Given the description of an element on the screen output the (x, y) to click on. 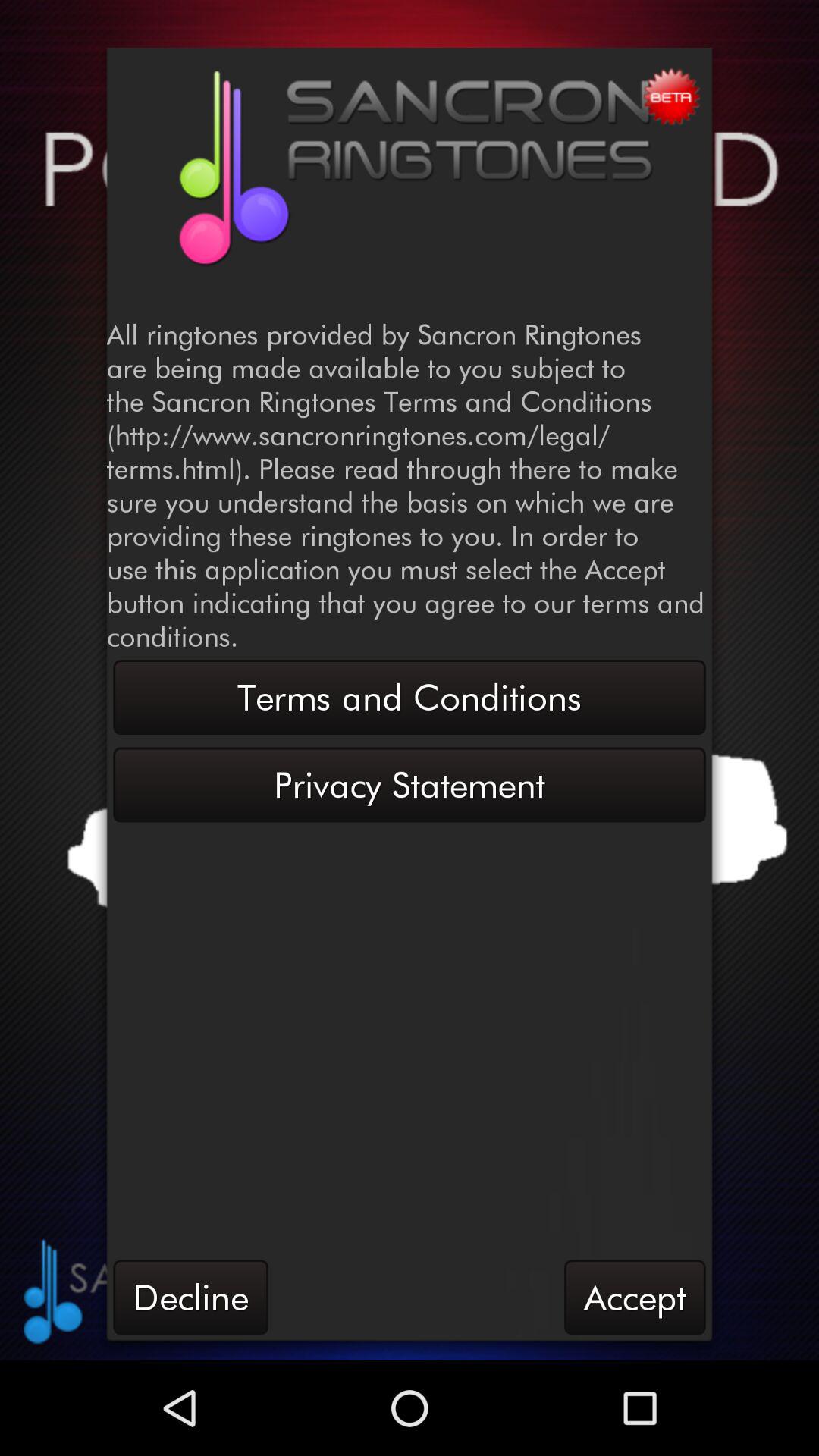
open button at the bottom right corner (634, 1296)
